Given the description of an element on the screen output the (x, y) to click on. 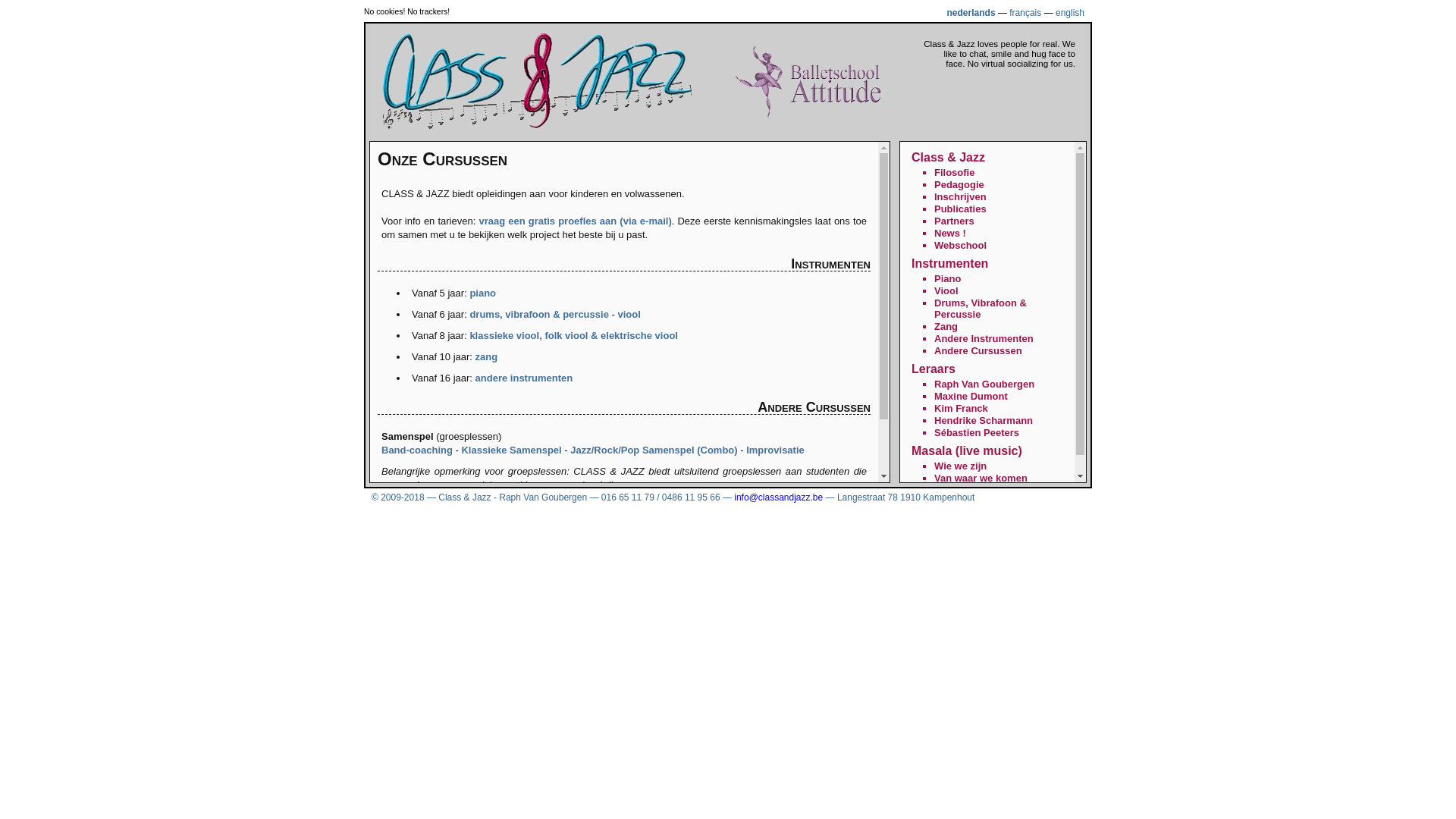
Gehoortraining Element type: text (822, 519)
Leraars Element type: text (933, 368)
nederlands Element type: text (971, 12)
Improvisatie Element type: text (775, 449)
Kim Franck Element type: text (961, 408)
Improvisatie Element type: text (410, 519)
Van waar we komen Element type: text (980, 477)
Pedagogie Element type: text (959, 184)
Klassieke Harmonie Element type: text (725, 519)
Band-coaching Element type: text (416, 449)
Viool Element type: text (946, 290)
vraag een gratis proefles aan (via e-mail) Element type: text (574, 220)
Arrangement Element type: text (550, 519)
Hendrike Scharmann Element type: text (983, 420)
Zien en horen Element type: text (966, 489)
drums, vibrafoon & percussie Element type: text (538, 314)
Piano Element type: text (947, 278)
Andere Cursussen Element type: text (978, 350)
Andere Instrumenten Element type: text (983, 338)
Maxine Dumont Element type: text (970, 395)
Muziekinformatica Element type: text (752, 533)
Drums, Vibrafoon & Percussie Element type: text (980, 308)
Raph Van Goubergen Element type: text (984, 383)
News ! Element type: text (950, 232)
Instrumenten Element type: text (949, 263)
english Element type: text (1069, 12)
Zang Element type: text (945, 326)
Publicaties Element type: text (960, 208)
Masala (live music) Element type: text (966, 450)
Wie we zijn Element type: text (960, 465)
zang Element type: text (486, 356)
Klassieke Samenspel Element type: text (511, 449)
Partners Element type: text (954, 220)
Klassieke Muziekgeschiedenis Element type: text (452, 533)
andere instrumenten Element type: text (524, 377)
info@classandjazz.be Element type: text (778, 497)
Jazz/Rock/Pop Samenspel (Combo) Element type: text (653, 449)
Filosofie Element type: text (954, 172)
Inschrijven Element type: text (960, 196)
klassieke viool, folk viool & elektrische viool Element type: text (573, 335)
Webschool Element type: text (960, 245)
Jazz/Rock/Pop Muziekgeschiedenis Element type: text (616, 533)
Class & Jazz Element type: text (948, 156)
Jazz-Harmonie Element type: text (629, 519)
piano Element type: text (482, 292)
Balletschool Attitude Element type: hover (808, 115)
viool Element type: text (628, 314)
Compositie Element type: text (479, 519)
